Given the description of an element on the screen output the (x, y) to click on. 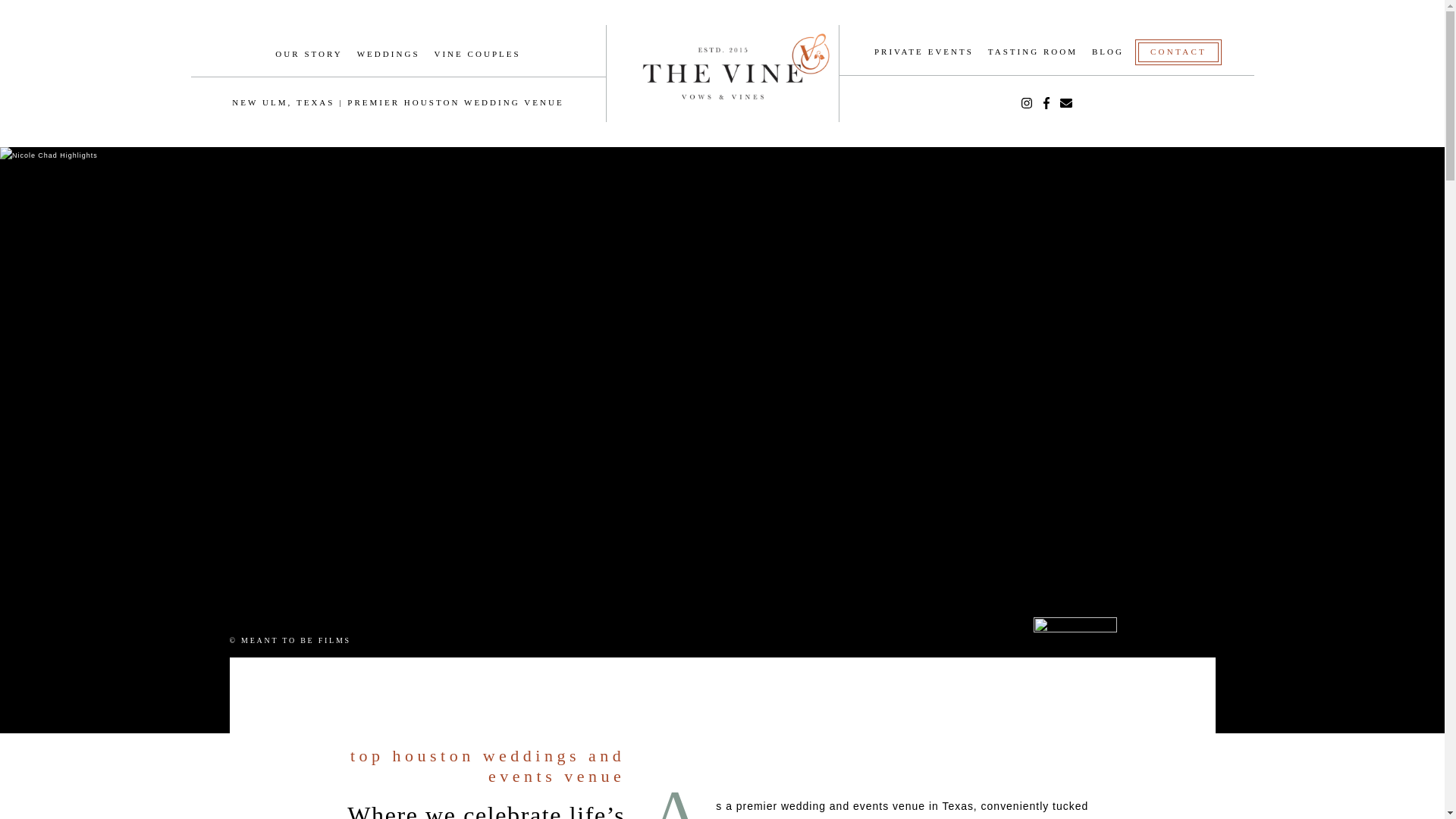
CONTACT (1178, 52)
TASTING ROOM (1032, 51)
VINE COUPLES (476, 53)
BLOG (1108, 51)
WEDDINGS (388, 53)
PRIVATE EVENTS (924, 51)
OUR STORY (308, 53)
